Given the description of an element on the screen output the (x, y) to click on. 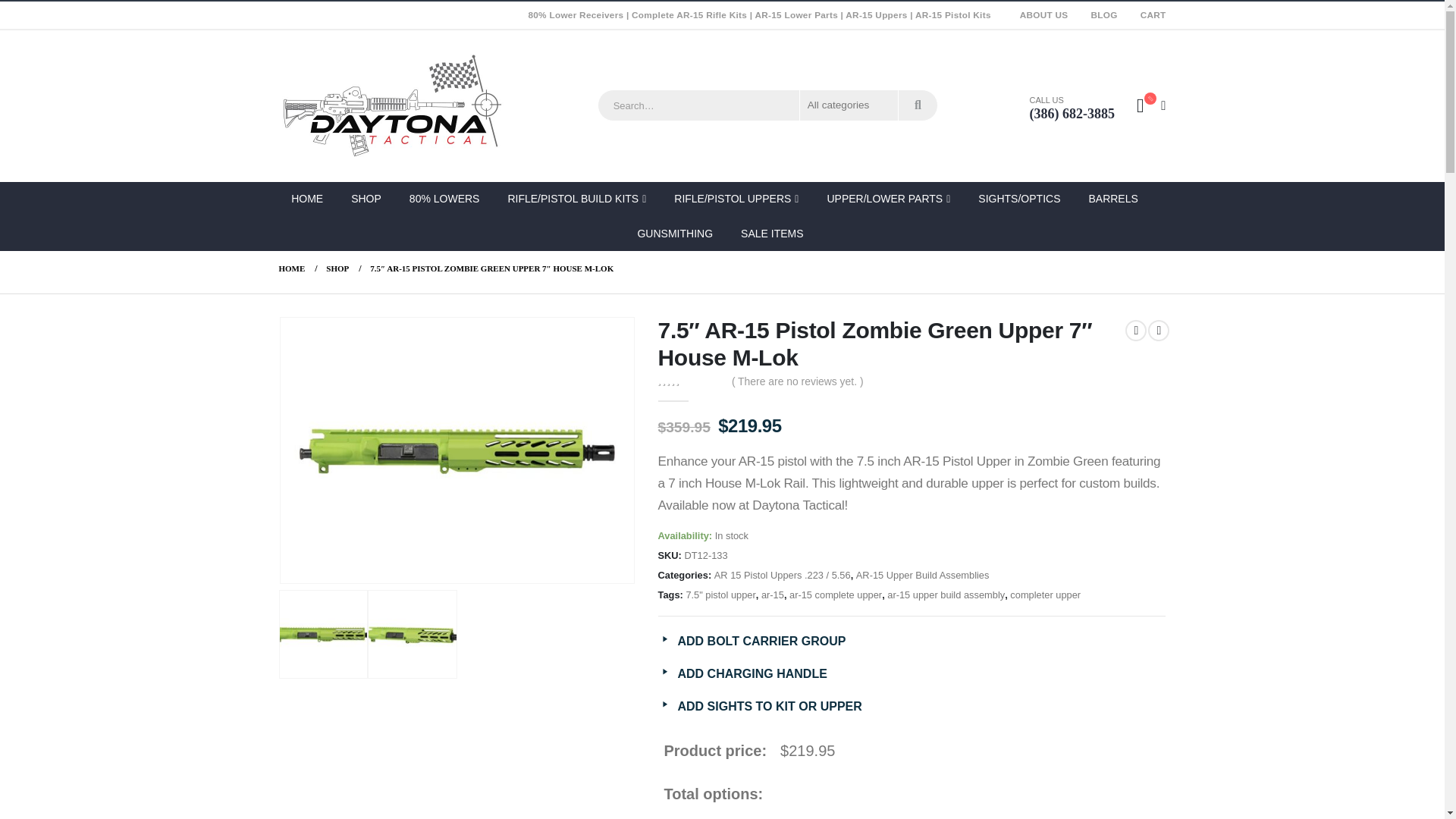
SALE ITEMS (773, 233)
BARRELS (1115, 198)
HOME (314, 198)
BLOG (1103, 14)
SHOP (367, 198)
Search (917, 105)
Go to Home Page (292, 268)
7.5" Zombie Green AR-15 Pistol Upper - Daytona Tactical (457, 450)
GUNSMITHING (677, 233)
